Given the description of an element on the screen output the (x, y) to click on. 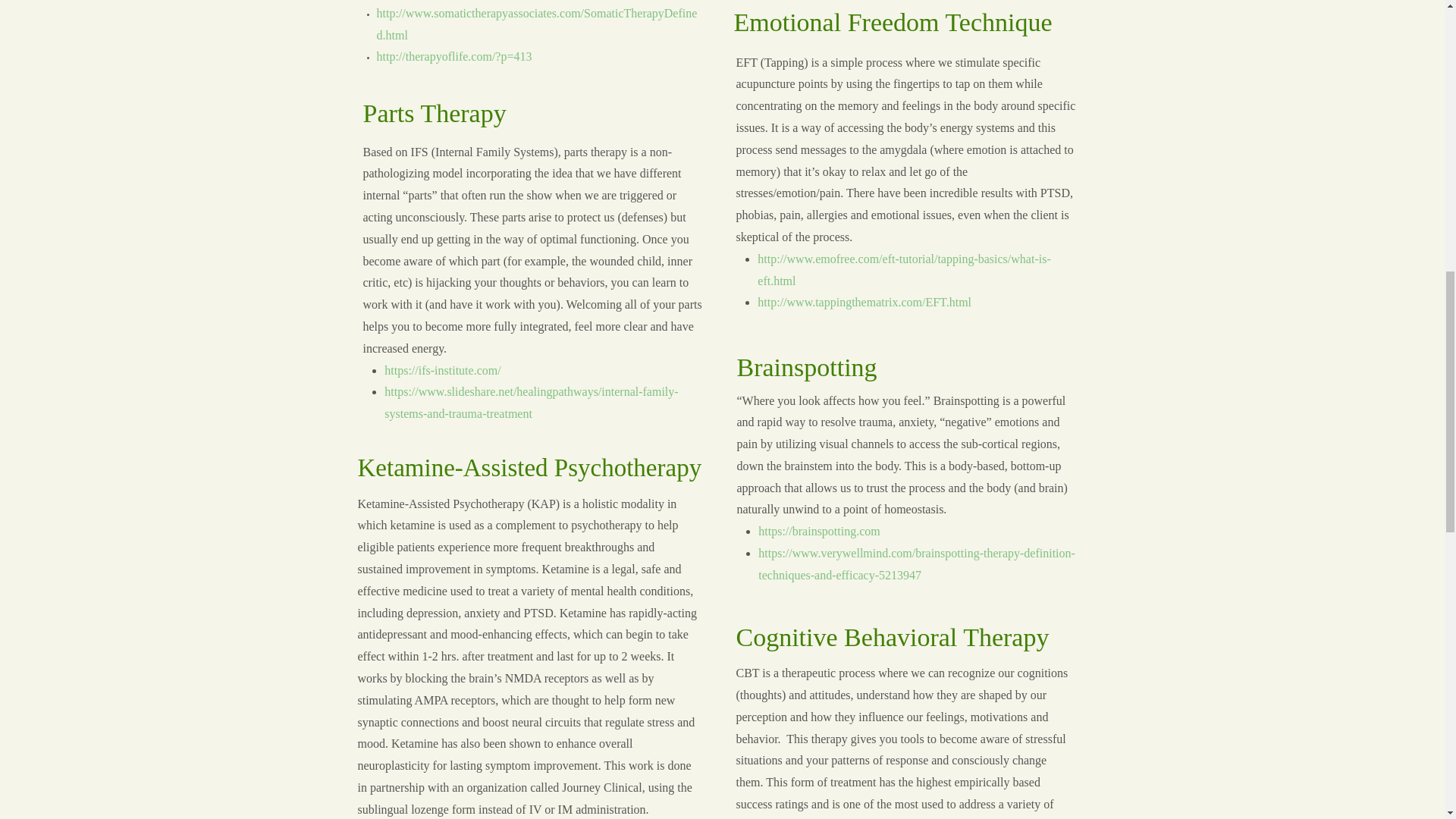
Ketamine-Assisted Psychotherapy (529, 467)
